Given the description of an element on the screen output the (x, y) to click on. 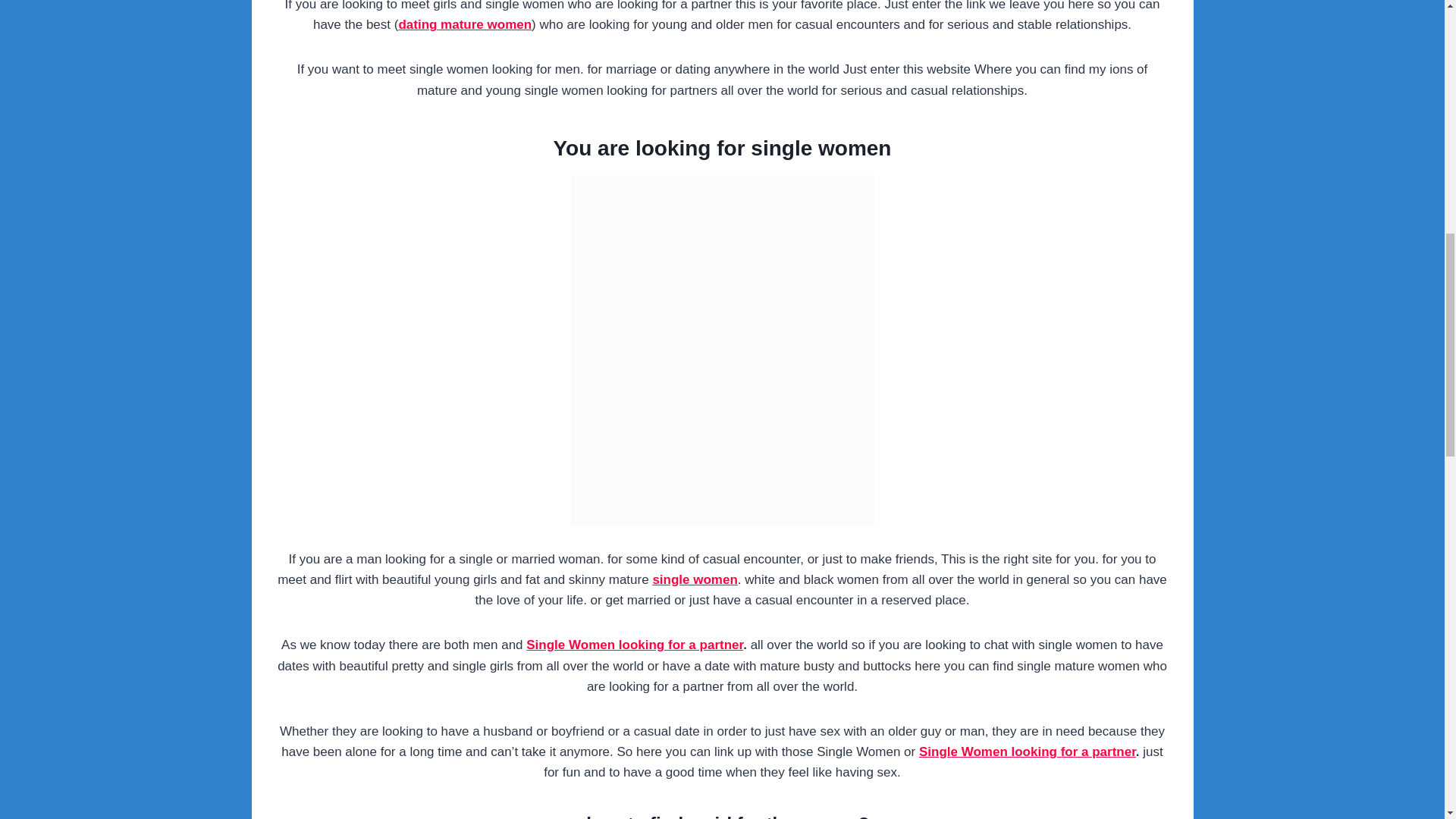
single women (694, 579)
Single Women looking for a partner (1026, 751)
Single Women looking for a partner (633, 644)
dating mature women (464, 24)
